Given the description of an element on the screen output the (x, y) to click on. 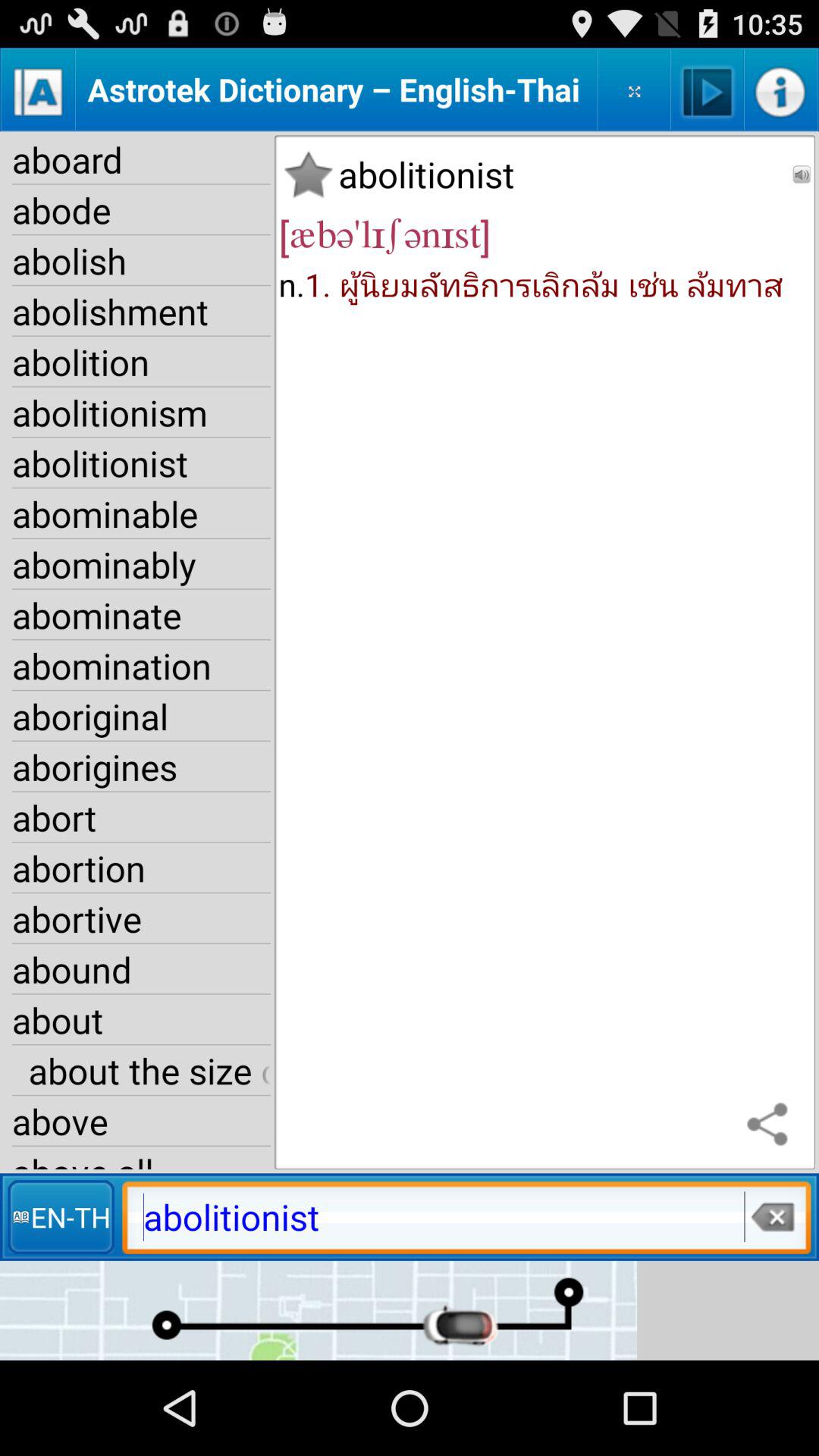
deletes entered text (771, 1216)
